Given the description of an element on the screen output the (x, y) to click on. 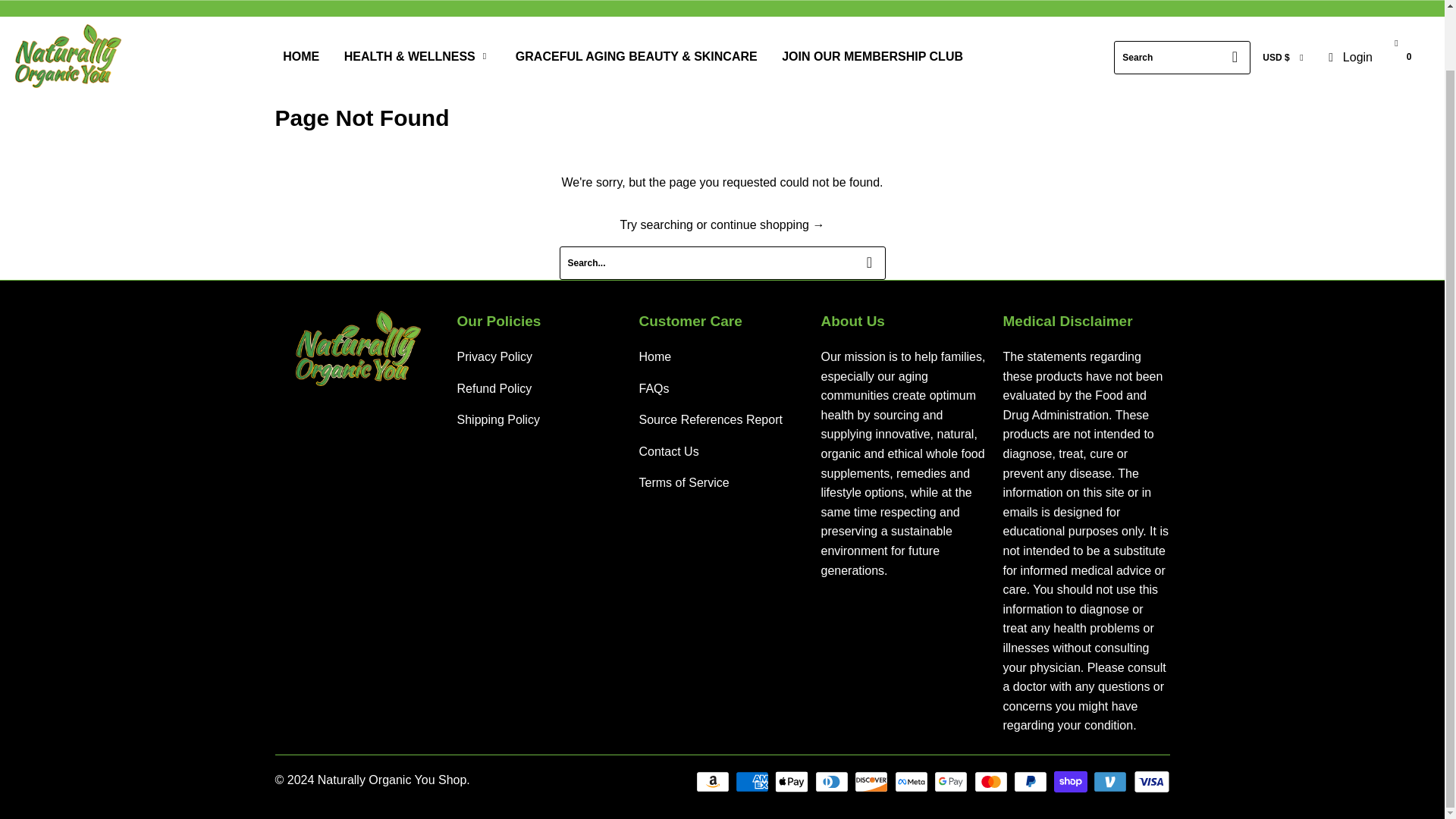
Venmo (1111, 781)
My Account  (1348, 57)
Diners Club (833, 781)
Meta Pay (913, 781)
PayPal (1031, 781)
Visa (1150, 781)
American Express (753, 781)
Mastercard (992, 781)
Amazon (713, 781)
Google Pay (952, 781)
